Given the description of an element on the screen output the (x, y) to click on. 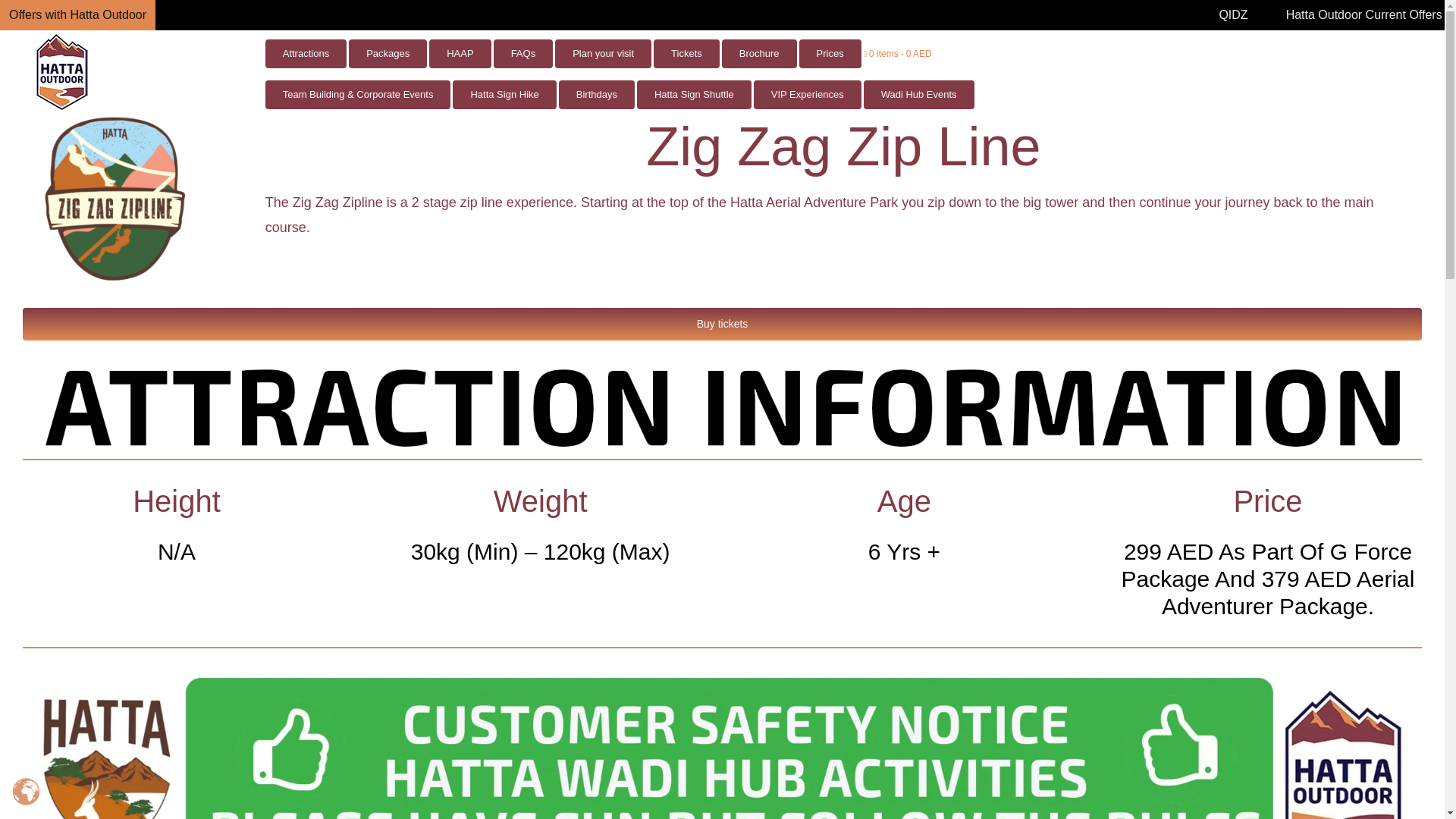
Attractions (305, 53)
